Given the description of an element on the screen output the (x, y) to click on. 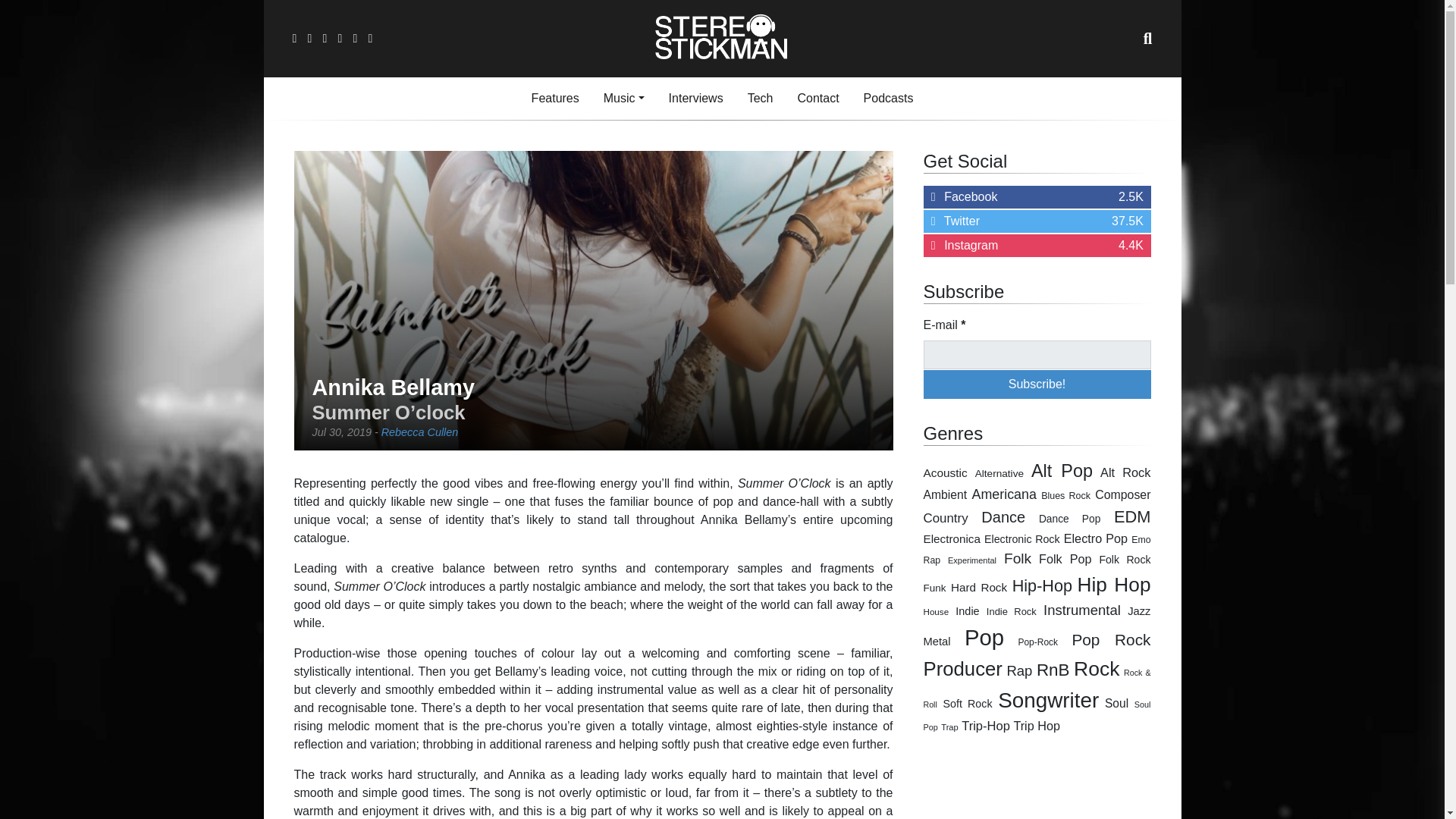
Features (555, 98)
Tech (760, 98)
E-mail (1037, 354)
Music (623, 98)
Rebecca Cullen (419, 431)
Podcasts (888, 98)
Subscribe! (1037, 384)
Contact (817, 98)
Interviews (695, 98)
Features (555, 98)
